Given the description of an element on the screen output the (x, y) to click on. 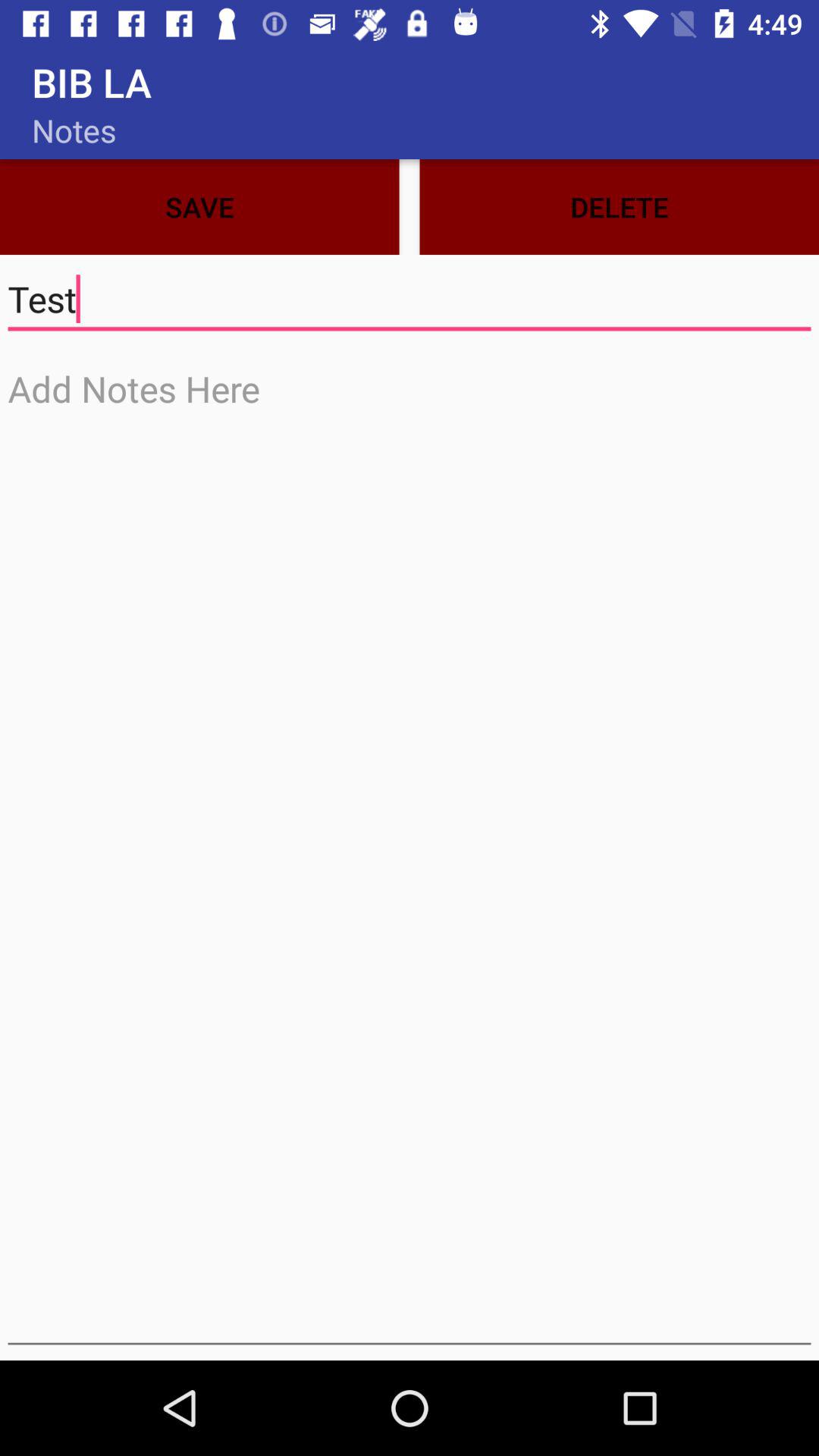
open the item to the right of the save item (619, 206)
